Given the description of an element on the screen output the (x, y) to click on. 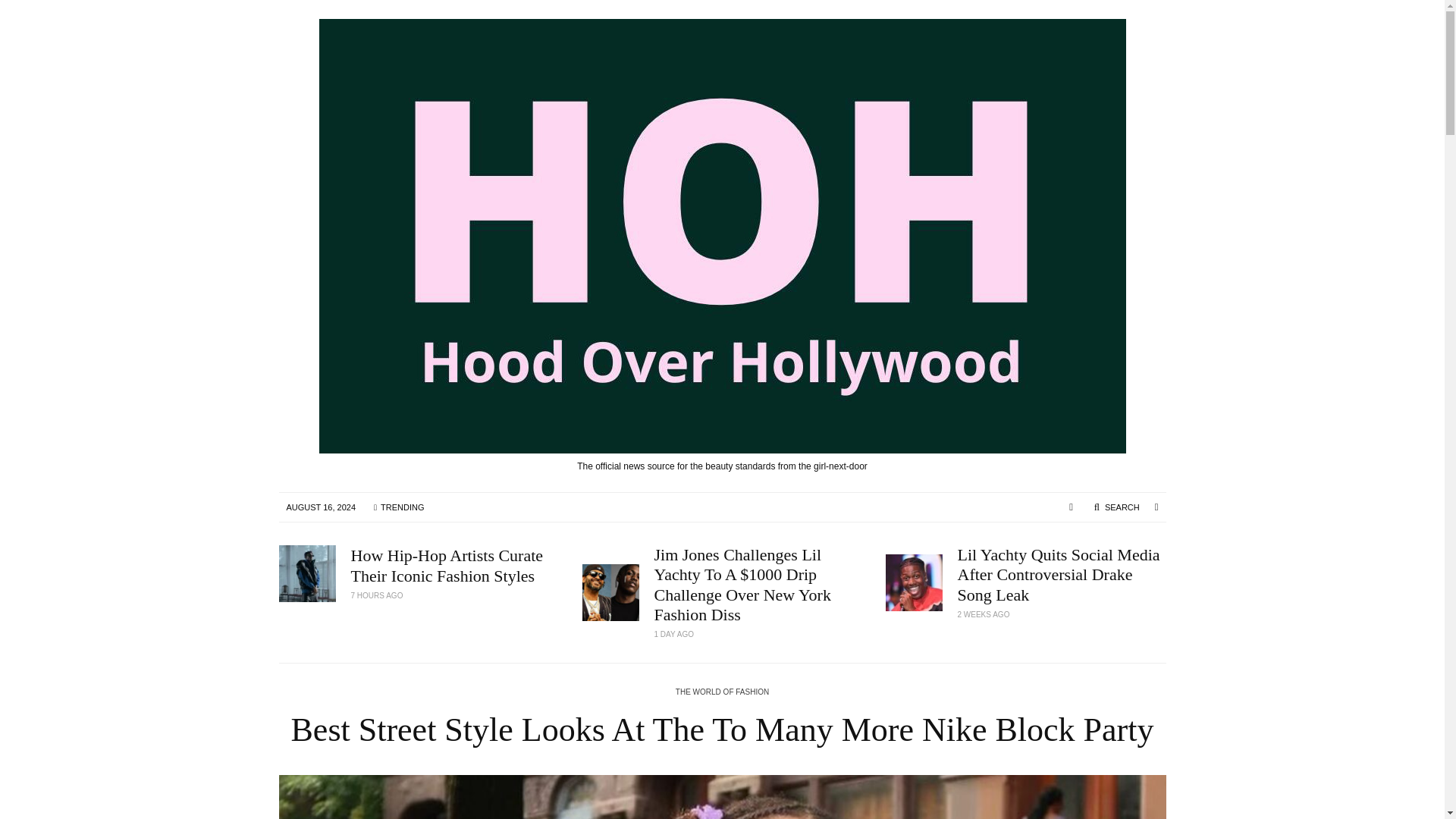
THE WORLD OF FASHION (721, 692)
How Hip-Hop Artists Curate Their Iconic Fashion Styles (454, 566)
TRENDING (397, 507)
SEARCH (1116, 506)
